Given the description of an element on the screen output the (x, y) to click on. 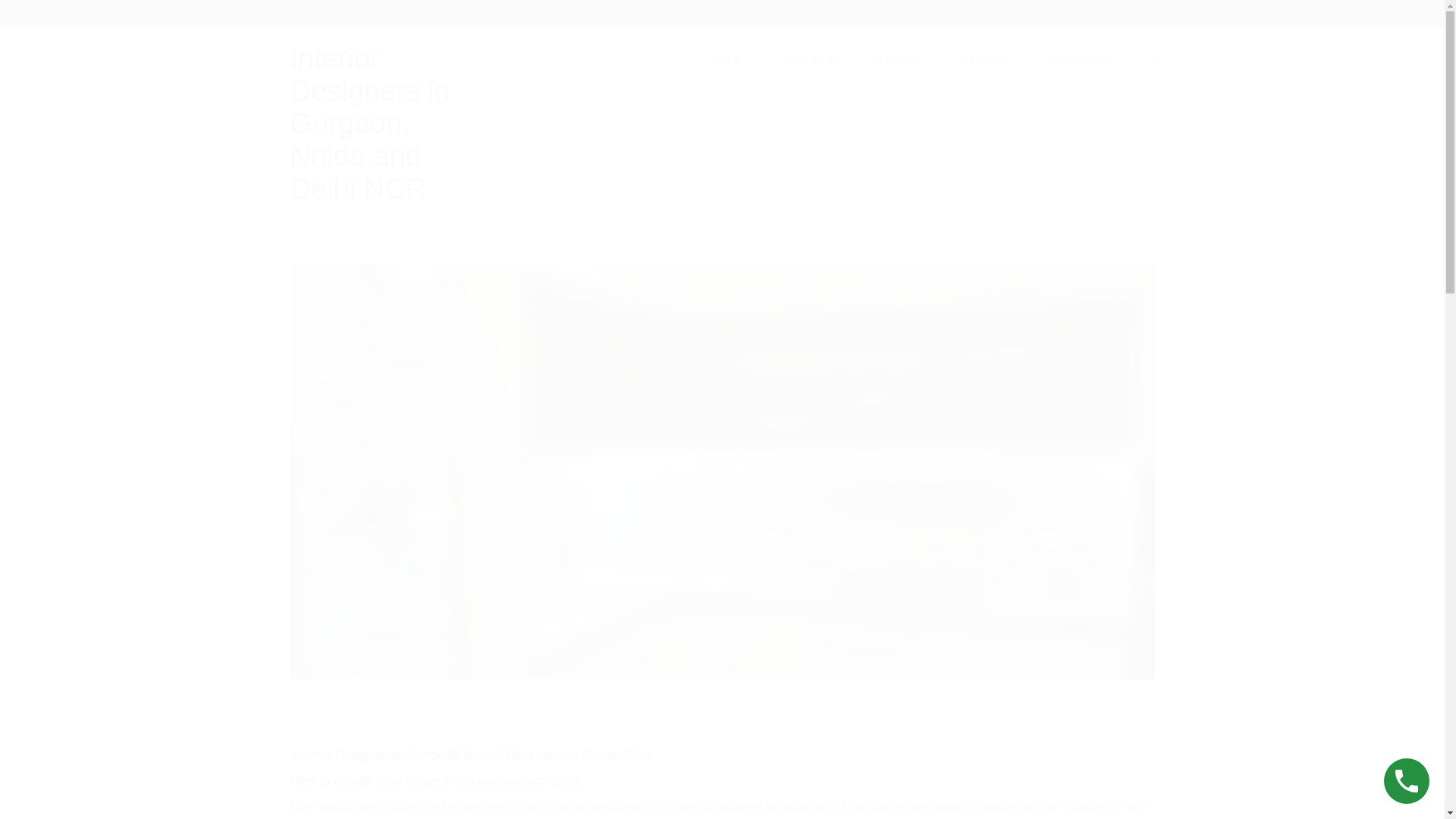
CONTACT US (1081, 59)
ABOUT US (807, 59)
Interior Designers in Gurgaon, Noida and Delhi NCR (369, 123)
SERVICES (897, 59)
GALLERY (985, 59)
